Given the description of an element on the screen output the (x, y) to click on. 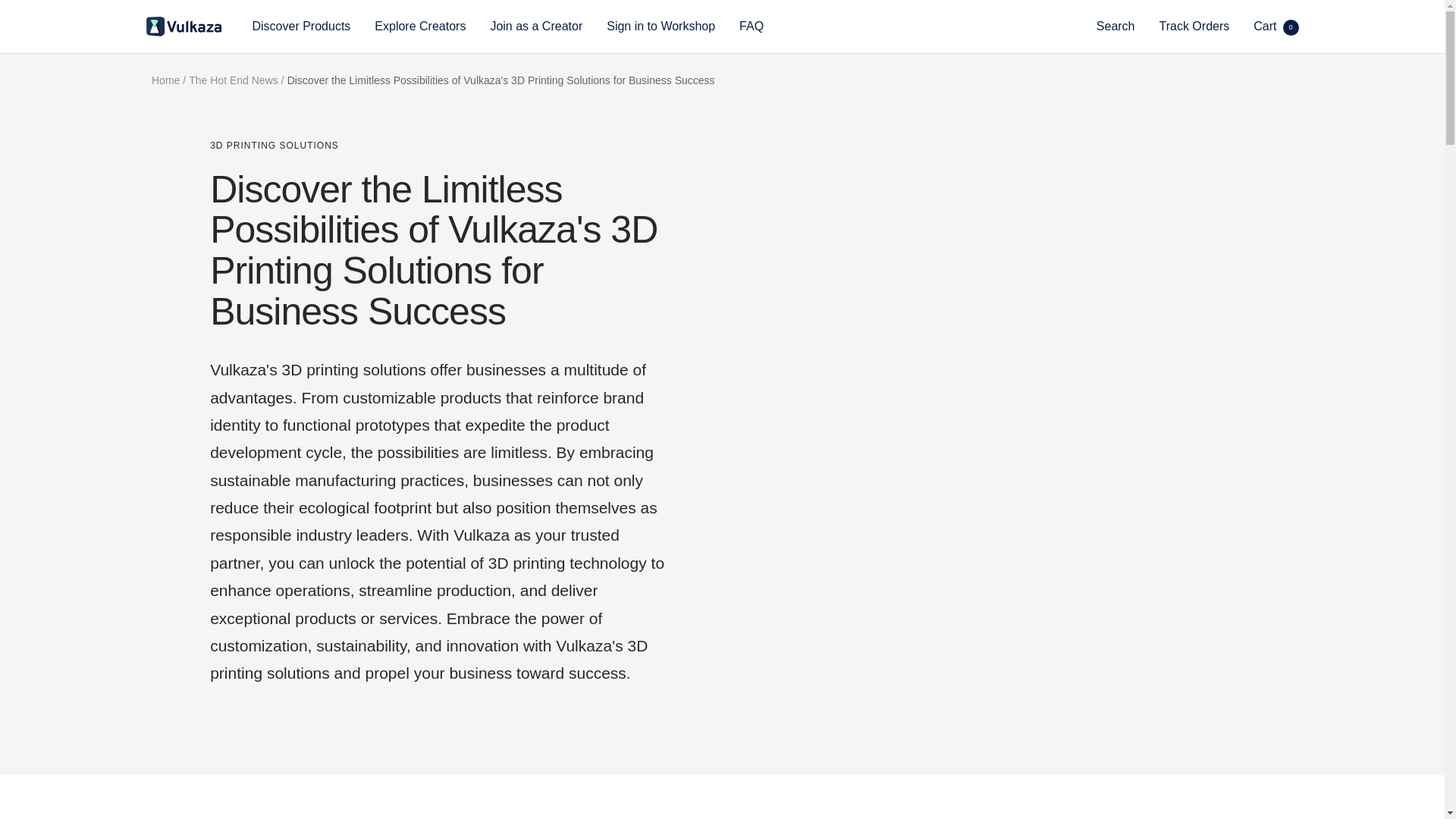
Vulkaza (183, 26)
The Hot End News (233, 80)
Track Orders (1194, 25)
Home (165, 80)
Join as a Creator (535, 25)
3D PRINTING SOLUTIONS (438, 145)
Search (1115, 25)
Discover Products (300, 25)
Sign in to Workshop (660, 25)
Explore Creators (419, 25)
FAQ (1275, 25)
